Given the description of an element on the screen output the (x, y) to click on. 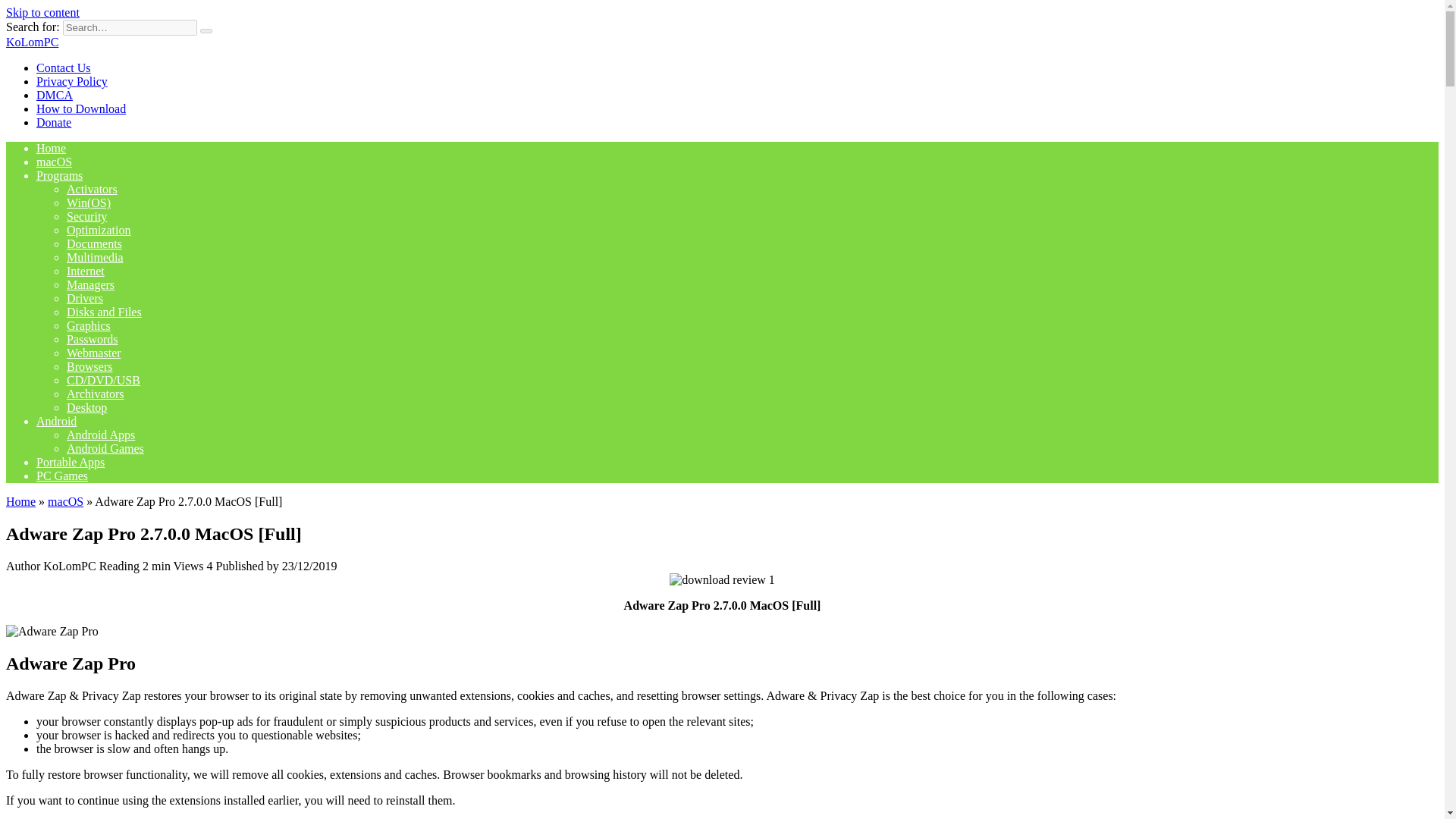
Archivators (94, 393)
Programs (59, 174)
Donate (53, 122)
Android Games (105, 448)
macOS (65, 501)
Disks and Files (103, 311)
Contact Us (63, 67)
Managers (90, 284)
Android (56, 420)
Browsers (89, 366)
